Given the description of an element on the screen output the (x, y) to click on. 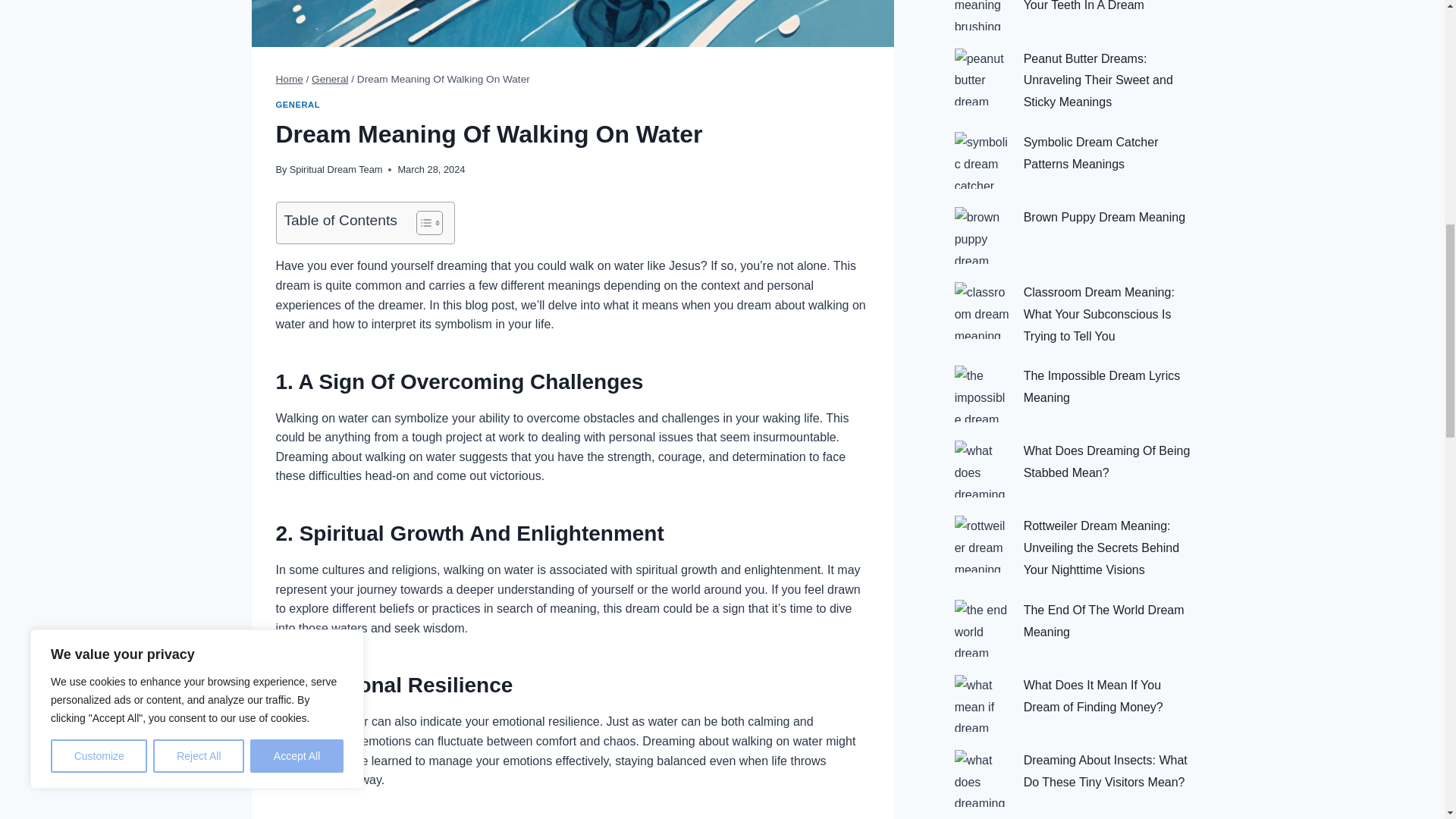
Spiritual Dream Team (335, 169)
GENERAL (298, 103)
Home (289, 79)
General (329, 79)
